Given the description of an element on the screen output the (x, y) to click on. 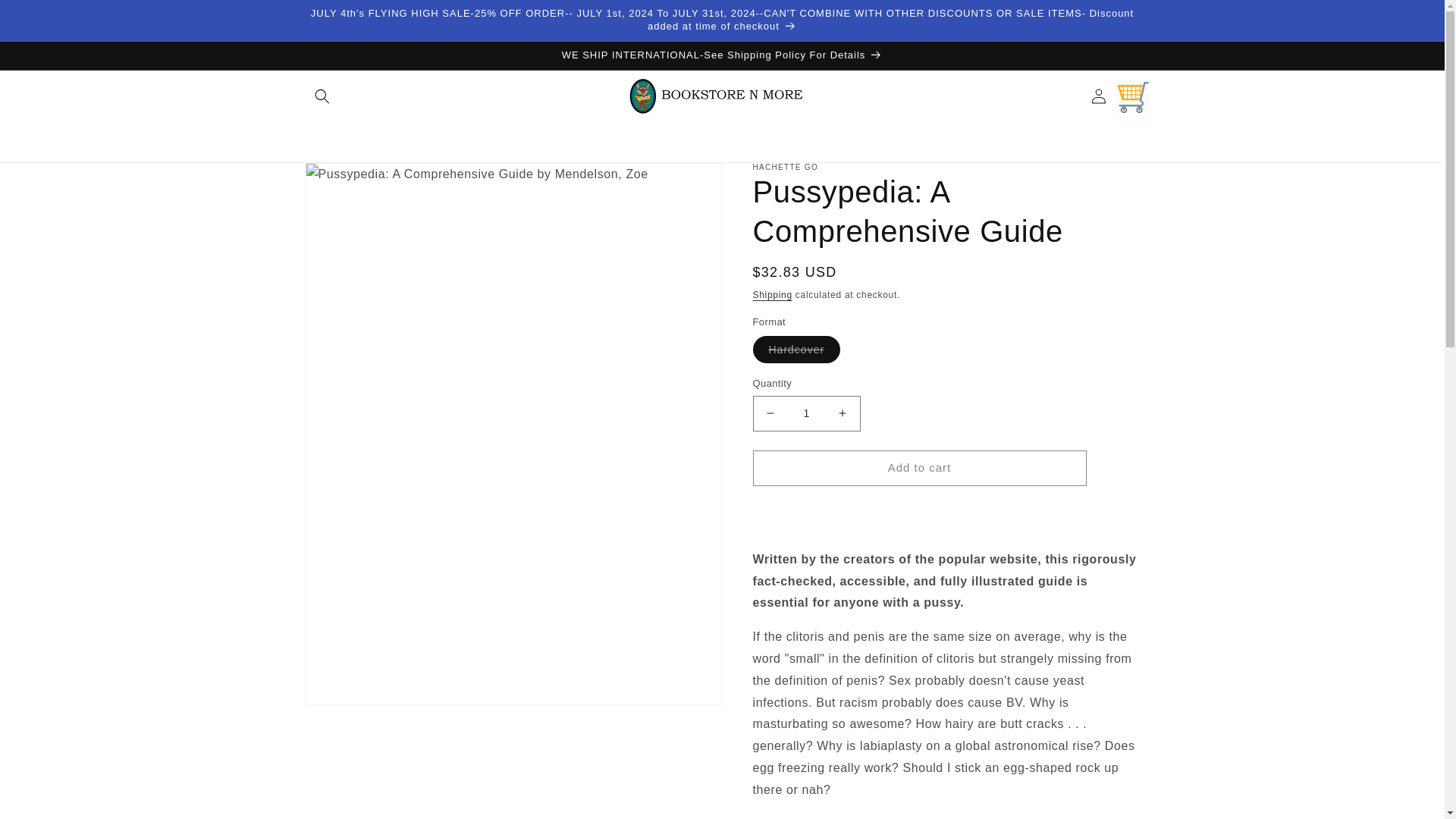
1 (806, 413)
Skip to content (45, 17)
